Given the description of an element on the screen output the (x, y) to click on. 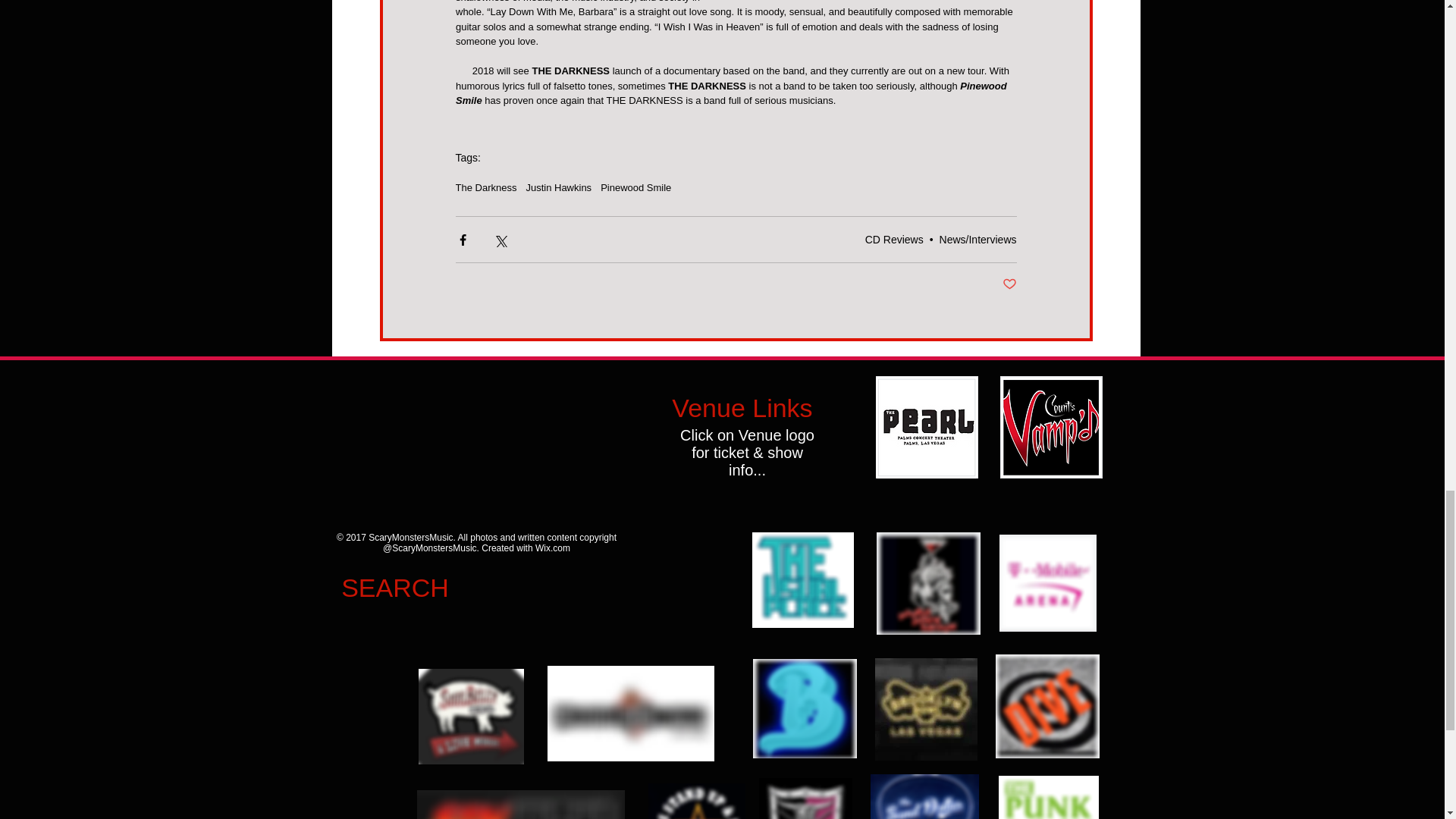
Pinewood Smile (635, 187)
CD Reviews (893, 239)
Wix.com (552, 547)
The Darkness (485, 187)
Post not marked as liked (1009, 284)
Justin Hawkins (558, 187)
